Given the description of an element on the screen output the (x, y) to click on. 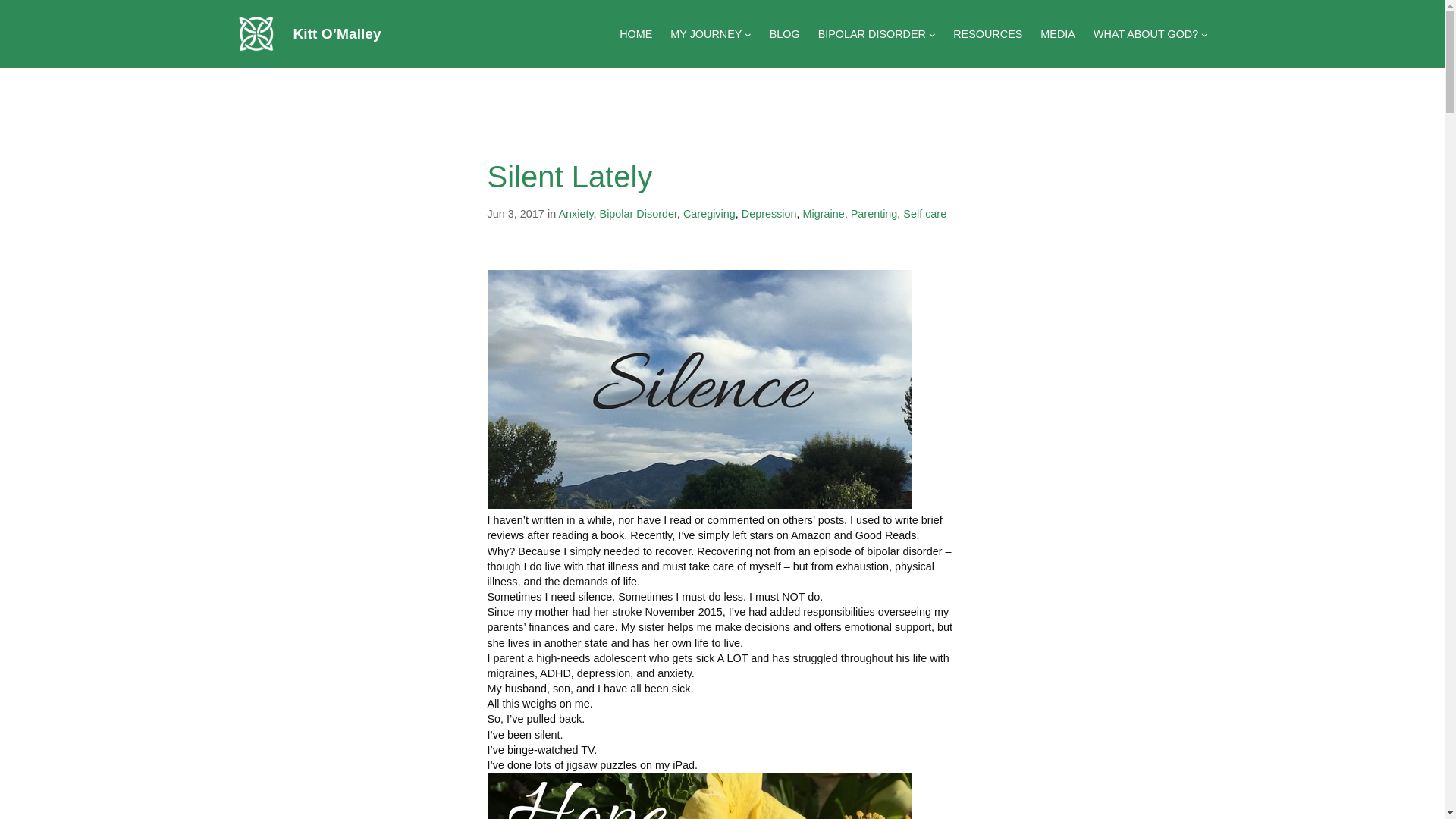
Jun 3, 2017 (514, 214)
MEDIA (1058, 33)
BLOG (784, 33)
Anxiety (574, 214)
Caregiving (708, 214)
WHAT ABOUT GOD? (1145, 33)
BIPOLAR DISORDER (872, 33)
HOME (636, 33)
MY JOURNEY (705, 33)
Depression (768, 214)
